Given the description of an element on the screen output the (x, y) to click on. 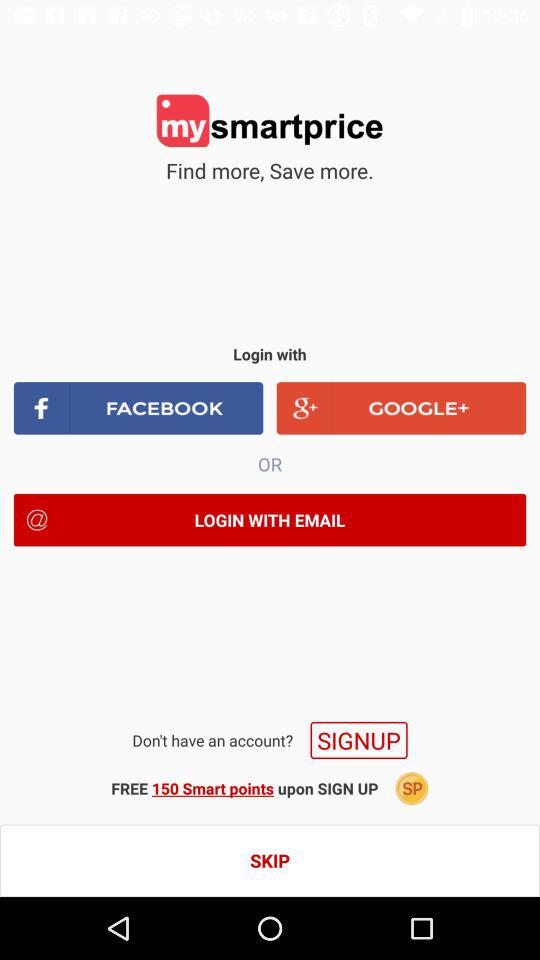
open skip icon (270, 860)
